Given the description of an element on the screen output the (x, y) to click on. 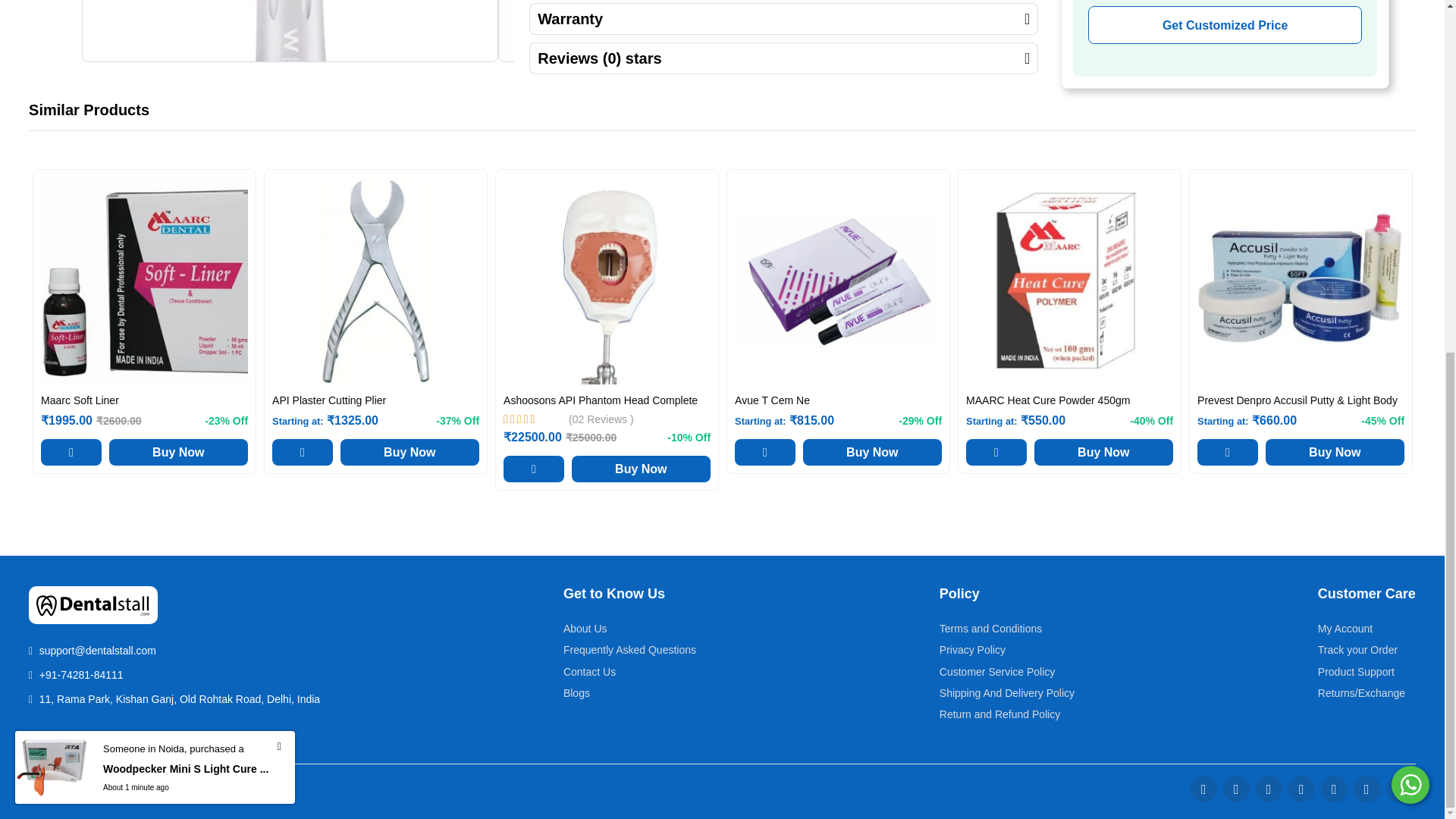
API Plaster Cutting Plier - Dentalstall India (375, 280)
Avue T Cem Ne - Dentalstall India (838, 280)
Maarc Soft Liner - Dentalstall India (143, 280)
MAARC Heat Cure Powder 450gm - Dentalstall India (1069, 280)
Ashoosons API Phantom Head Complete - Dentalstall India (606, 280)
